Given the description of an element on the screen output the (x, y) to click on. 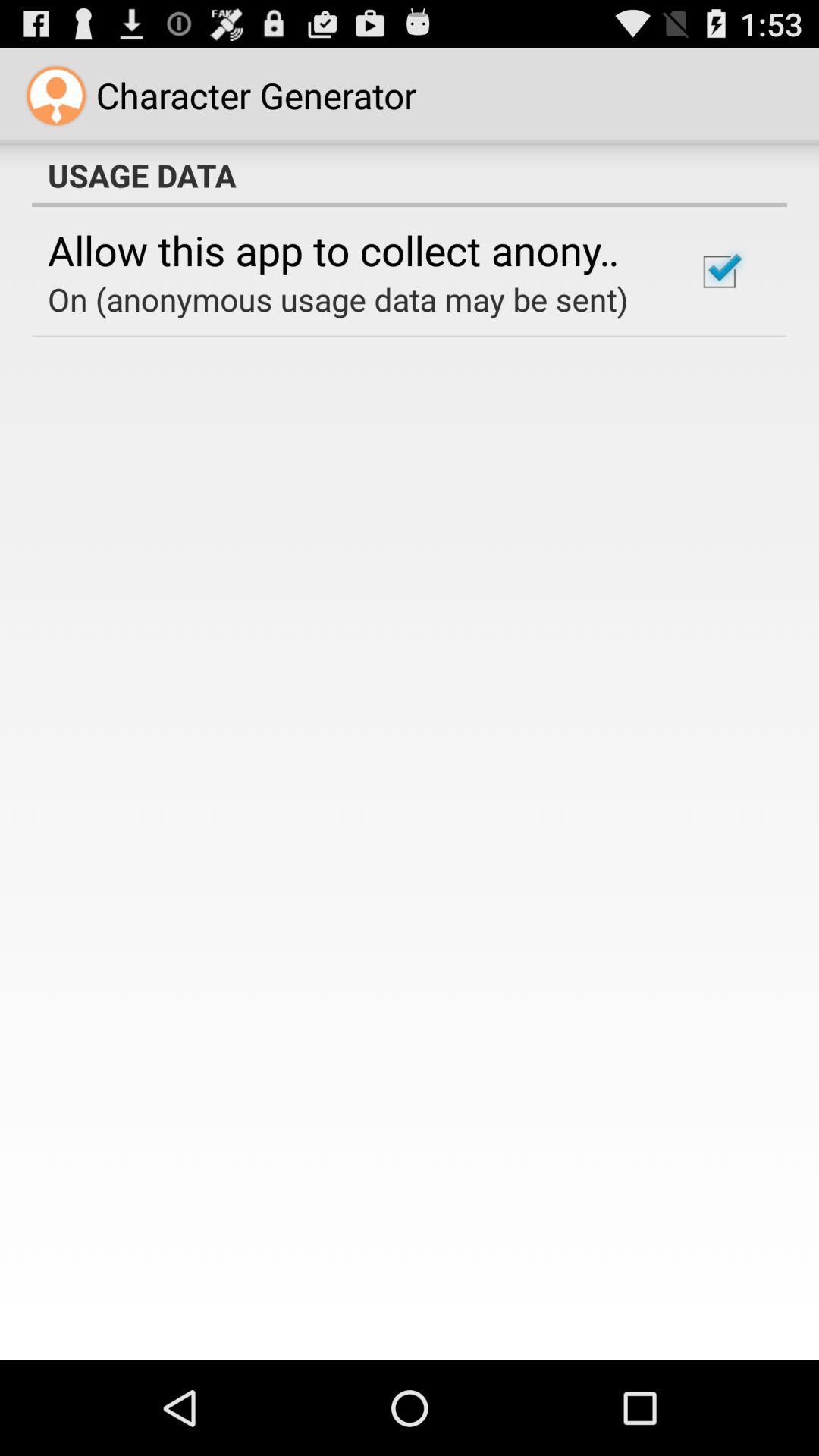
press icon below usage data item (719, 271)
